Given the description of an element on the screen output the (x, y) to click on. 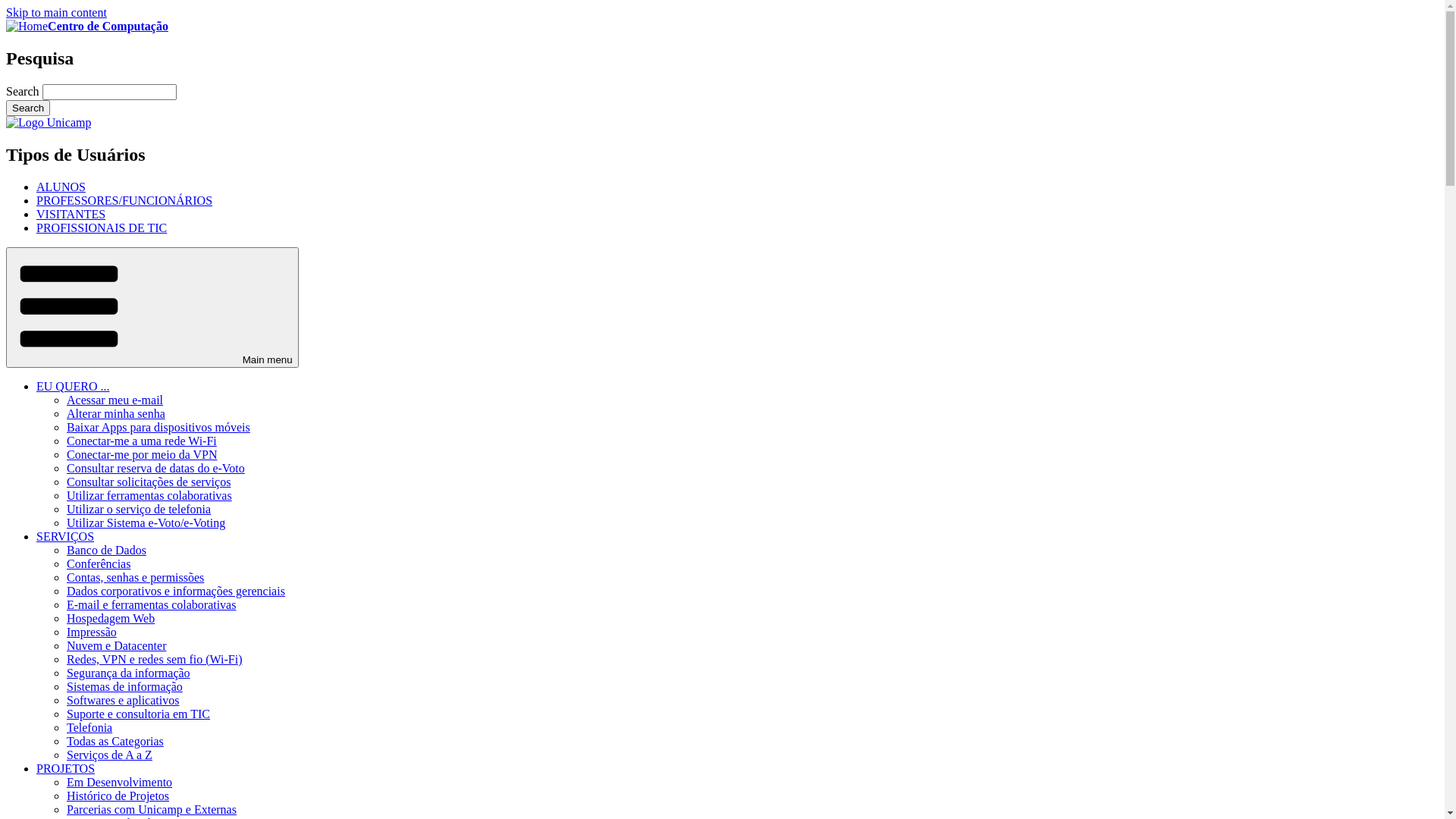
Redes, VPN e redes sem fio (Wi-Fi) Element type: text (153, 658)
Search Element type: text (28, 108)
Main menu Element type: text (152, 307)
Telefonia Element type: text (89, 727)
PROJETOS Element type: text (65, 768)
Banco de Dados Element type: text (106, 549)
Em Desenvolvimento Element type: text (119, 781)
Nuvem e Datacenter Element type: text (116, 645)
Utilizar Sistema e-Voto/e-Voting Element type: text (145, 522)
Hospedagem Web Element type: text (110, 617)
Acessar meu e-mail Element type: text (114, 399)
Enter the terms you wish to search for. Element type: hover (109, 92)
EU QUERO ... Element type: text (72, 385)
VISITANTES Element type: text (70, 213)
Suporte e consultoria em TIC Element type: text (138, 713)
PROFISSIONAIS DE TIC Element type: text (101, 227)
Skip to main content Element type: text (56, 12)
Softwares e aplicativos Element type: text (122, 699)
Consultar reserva de datas do e-Voto Element type: text (155, 467)
ALUNOS Element type: text (60, 186)
Utilizar ferramentas colaborativas Element type: text (149, 495)
Home Element type: hover (26, 25)
Alterar minha senha Element type: text (115, 413)
Conectar-me a uma rede Wi-Fi Element type: text (141, 440)
Parcerias com Unicamp e Externas Element type: text (151, 809)
E-mail e ferramentas colaborativas Element type: text (150, 604)
Conectar-me por meio da VPN Element type: text (141, 454)
Todas as Categorias Element type: text (114, 740)
